Given the description of an element on the screen output the (x, y) to click on. 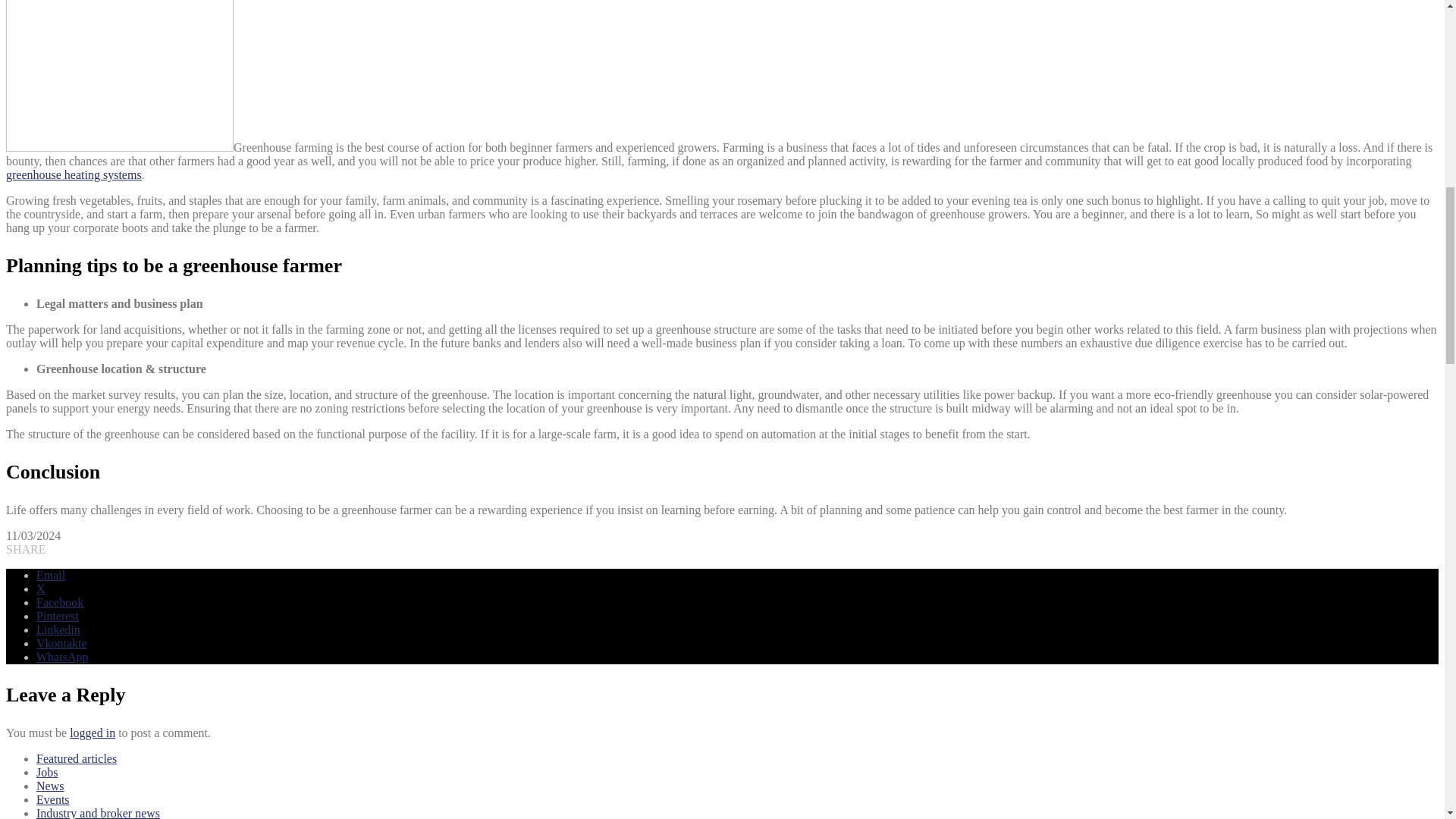
Facebook (59, 602)
Vkontakte (61, 643)
Facebook (59, 602)
X (40, 588)
Email (50, 574)
X (40, 588)
Linkedin (58, 629)
greenhouse heating systems (73, 174)
Pinterest (57, 615)
WhatsApp (61, 656)
Email (50, 574)
